Given the description of an element on the screen output the (x, y) to click on. 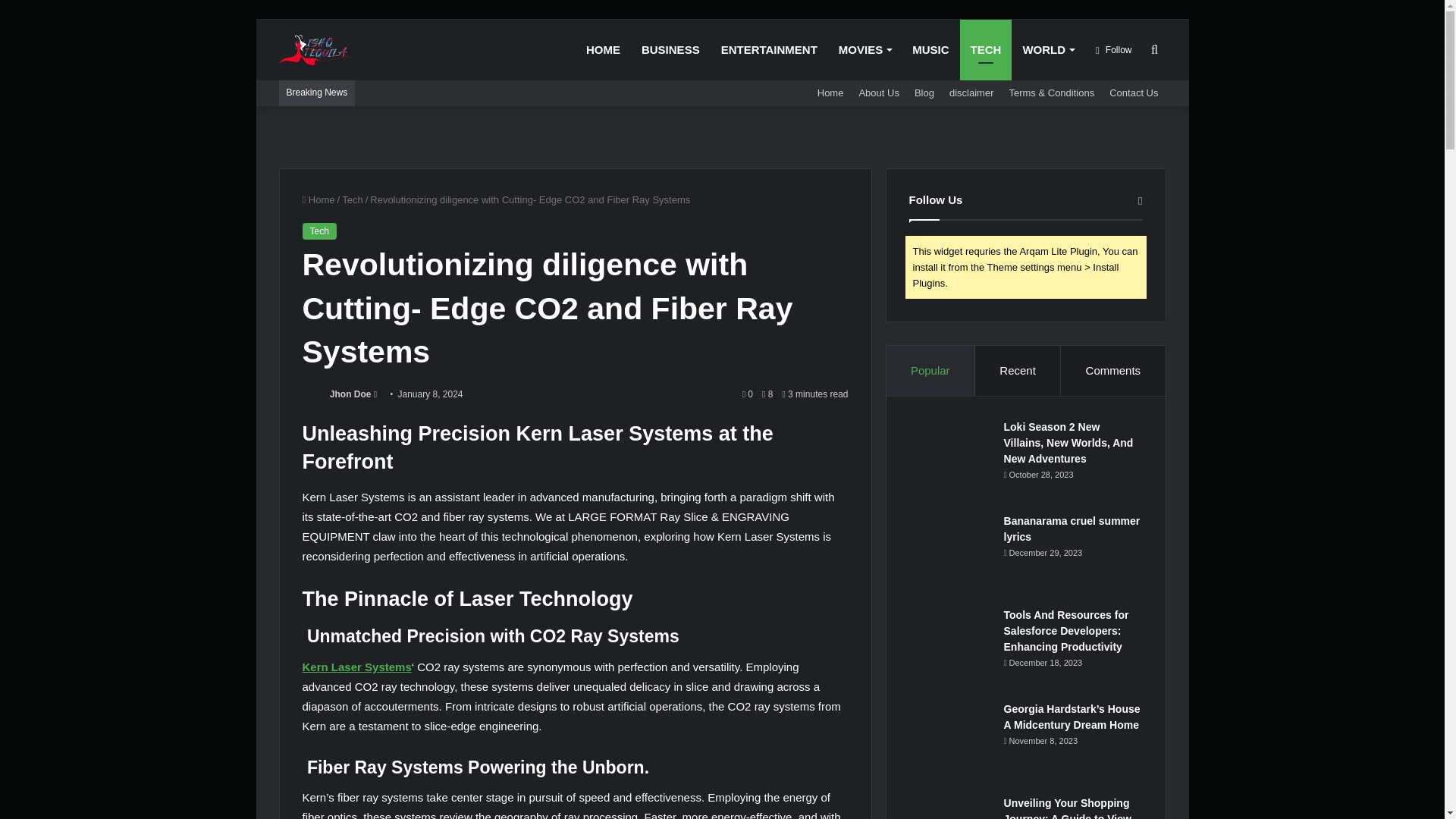
Blog (924, 92)
Home (317, 199)
disclaimer (971, 92)
Home (830, 92)
HOME (602, 49)
Jhon Doe (350, 394)
Contact Us (1134, 92)
About Us (877, 92)
Follow (1113, 49)
MUSIC (930, 49)
